Given the description of an element on the screen output the (x, y) to click on. 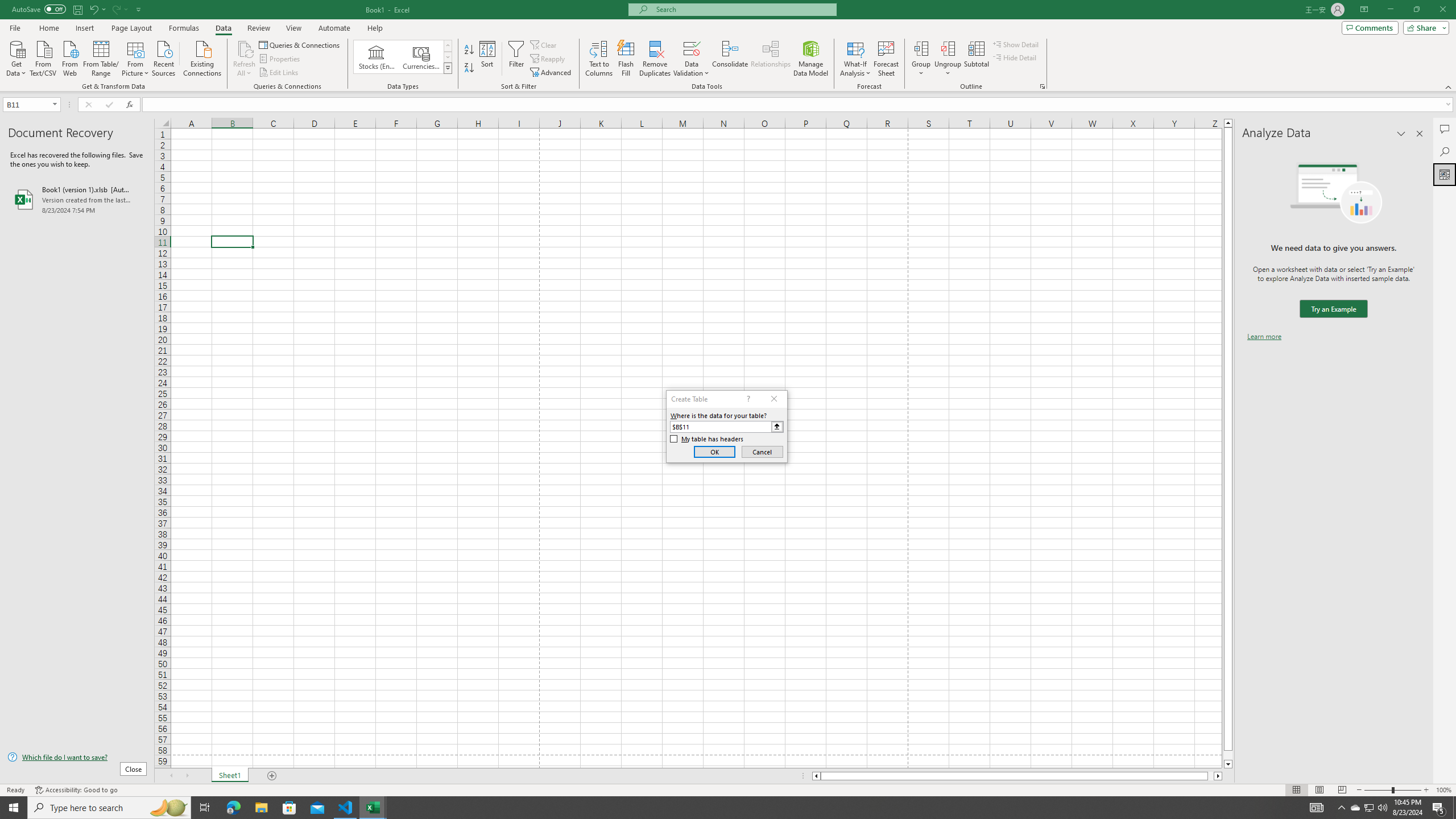
Sort A to Z (469, 49)
Consolidate... (729, 58)
Group and Outline Settings (1042, 85)
Currencies (English) (420, 56)
Clear (544, 44)
Get Data (16, 57)
Properties (280, 58)
